Given the description of an element on the screen output the (x, y) to click on. 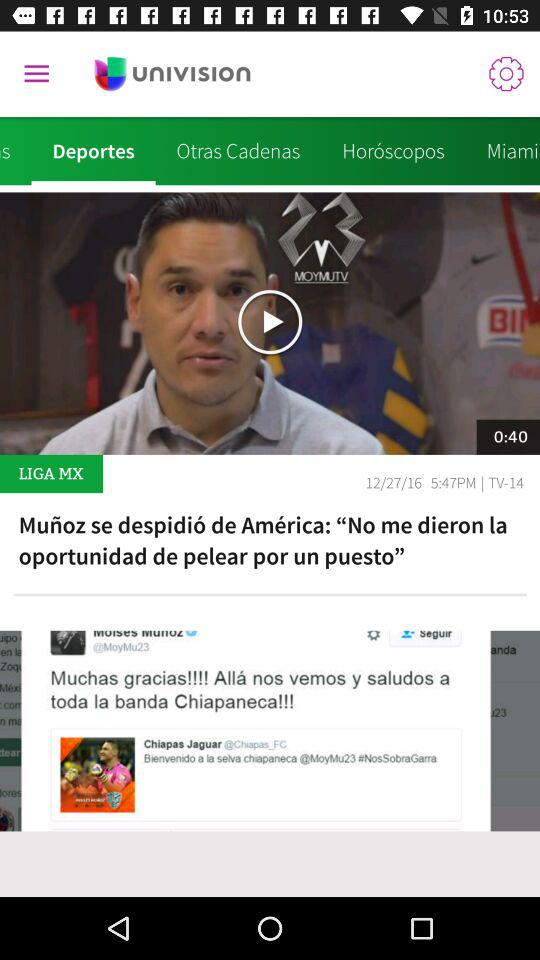
turn off the icon to the right of noticias icon (93, 151)
